Given the description of an element on the screen output the (x, y) to click on. 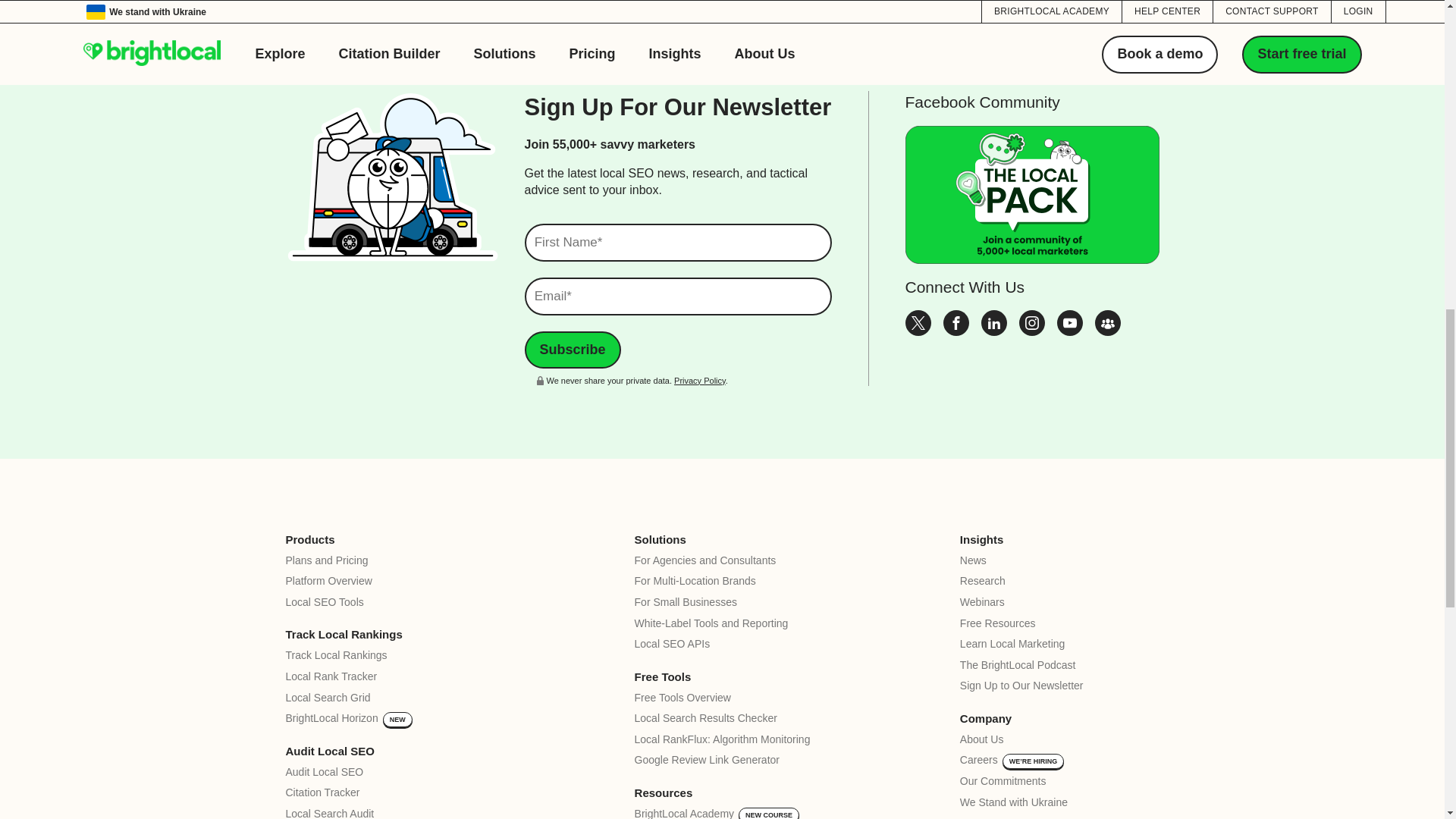
Privacy Policy (699, 379)
The Local Pack (1107, 331)
Subscribe (572, 349)
Linkedin (994, 331)
Twitter (918, 331)
YouTube (1070, 331)
Facebook (956, 331)
Instagram (1032, 331)
